Given the description of an element on the screen output the (x, y) to click on. 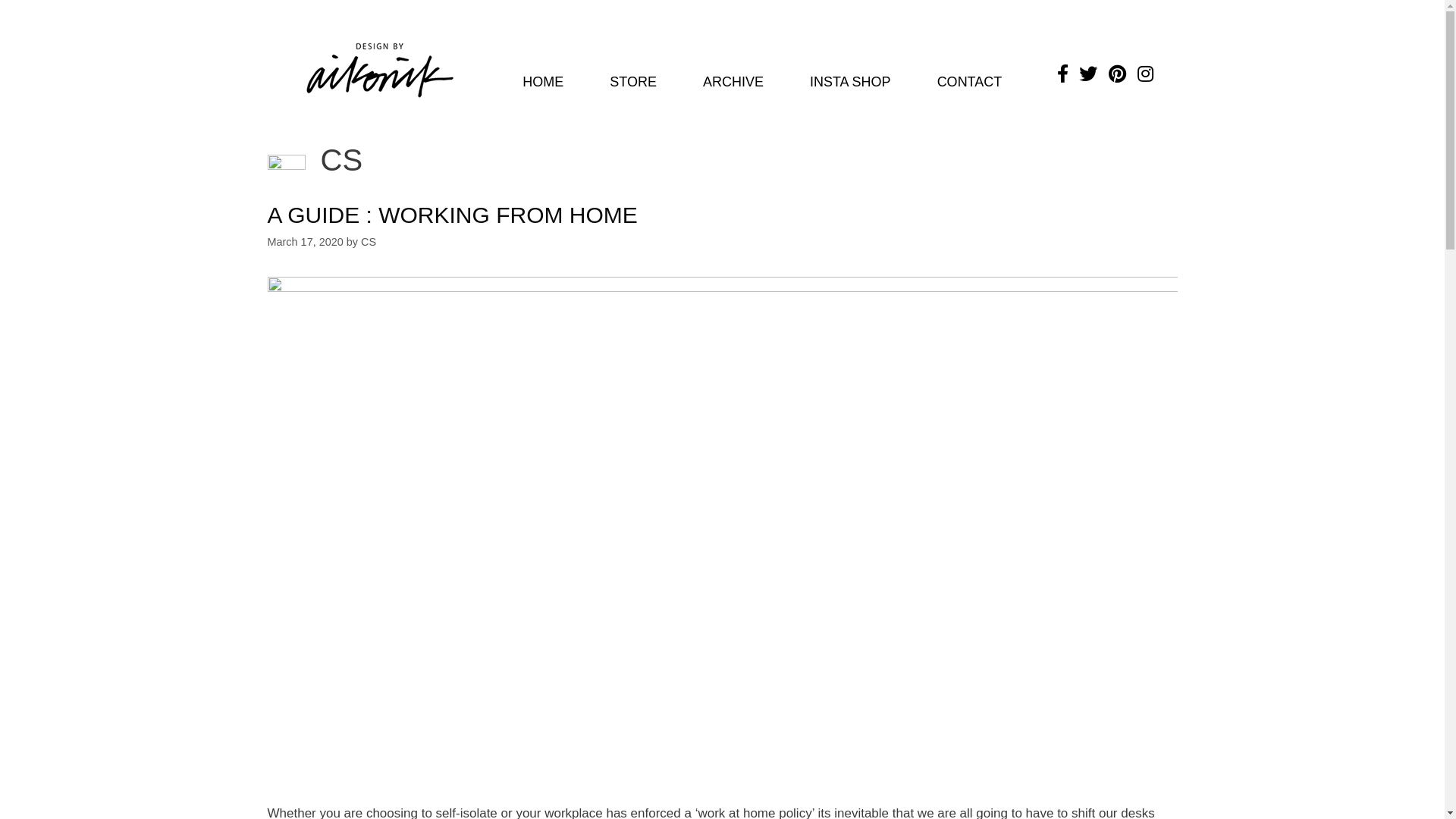
STORE Element type: text (632, 82)
HOME Element type: text (542, 82)
INSTA SHOP Element type: text (850, 82)
ARCHIVE Element type: text (733, 82)
CS Element type: text (368, 241)
CONTACT Element type: text (969, 82)
Design By Aikonik - Logo New small Element type: hover (379, 70)
A GUIDE : WORKING FROM HOME Element type: text (451, 214)
